Given the description of an element on the screen output the (x, y) to click on. 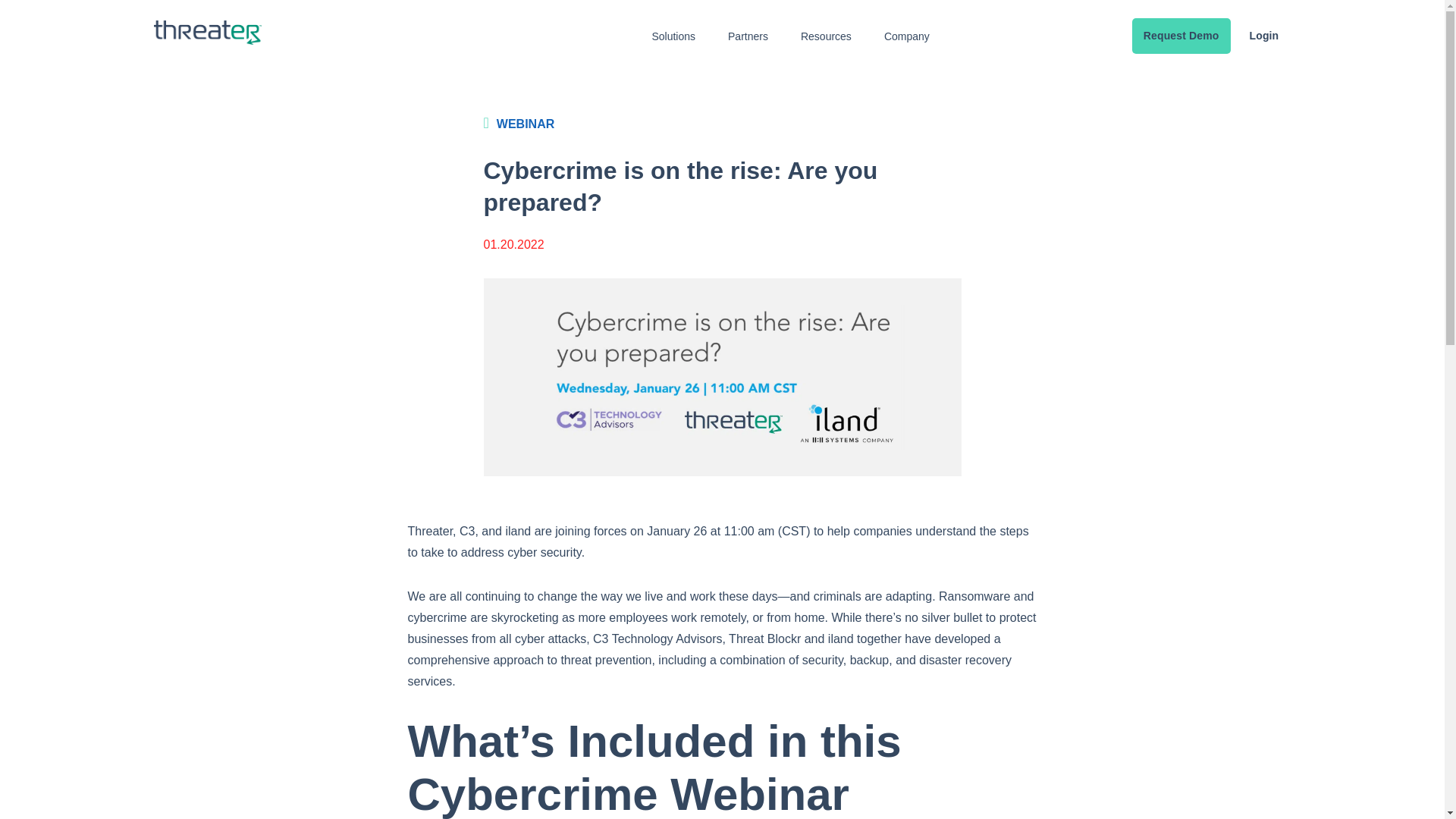
Solutions (672, 36)
Resources (825, 36)
Request Demo (1181, 36)
Partners (748, 36)
Company (906, 36)
Login (1263, 36)
